Given the description of an element on the screen output the (x, y) to click on. 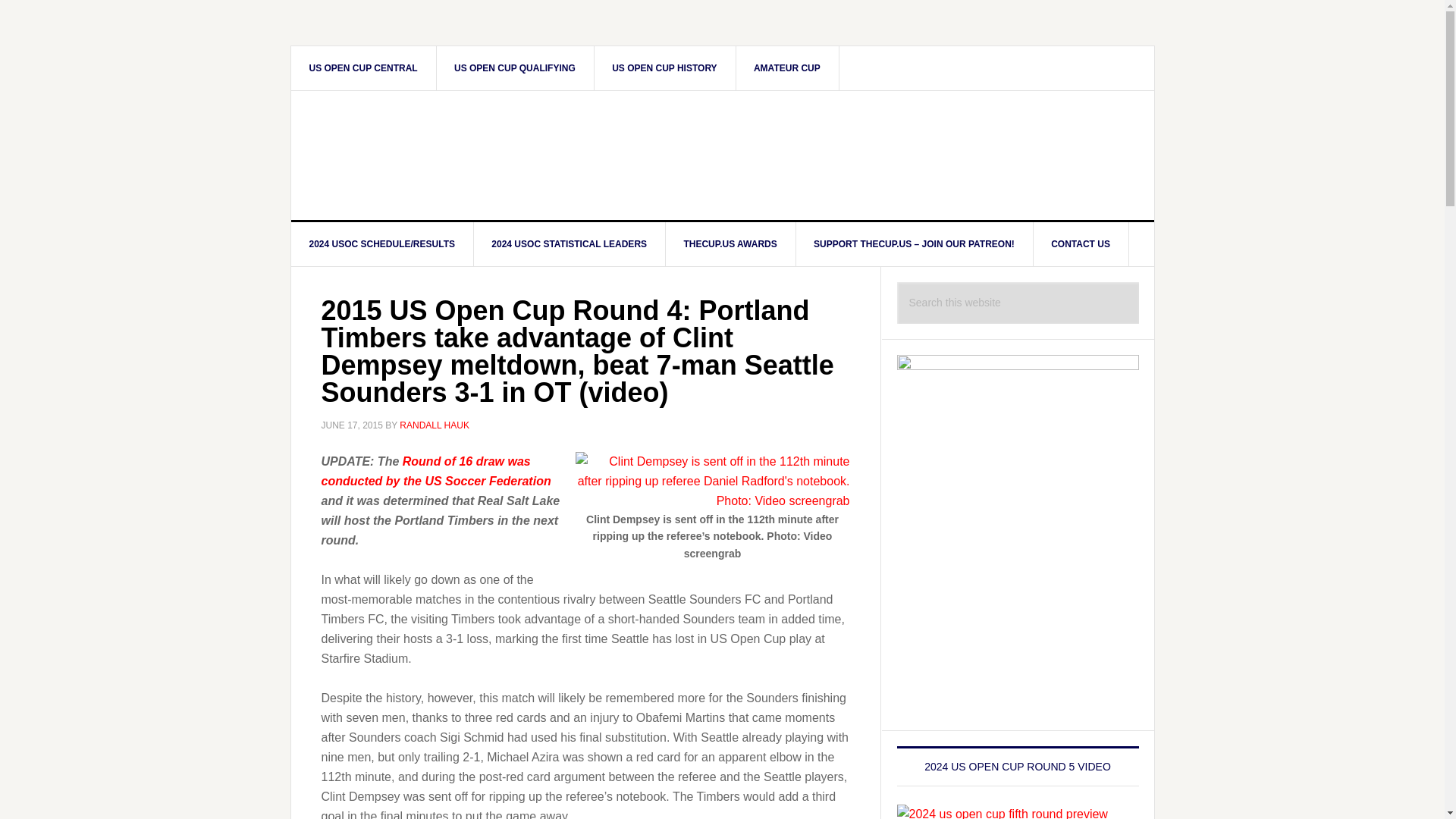
RANDALL HAUK (433, 425)
2024 USOC STATISTICAL LEADERS (569, 243)
CONTACT US (1080, 243)
AMATEUR CUP (787, 67)
US OPEN CUP CENTRAL (363, 67)
US OPEN CUP HISTORY (664, 67)
US OPEN CUP QUALIFYING (514, 67)
THECUP.US AWARDS (729, 243)
Round of 16 draw was conducted by the US Soccer Federation (436, 471)
